Given the description of an element on the screen output the (x, y) to click on. 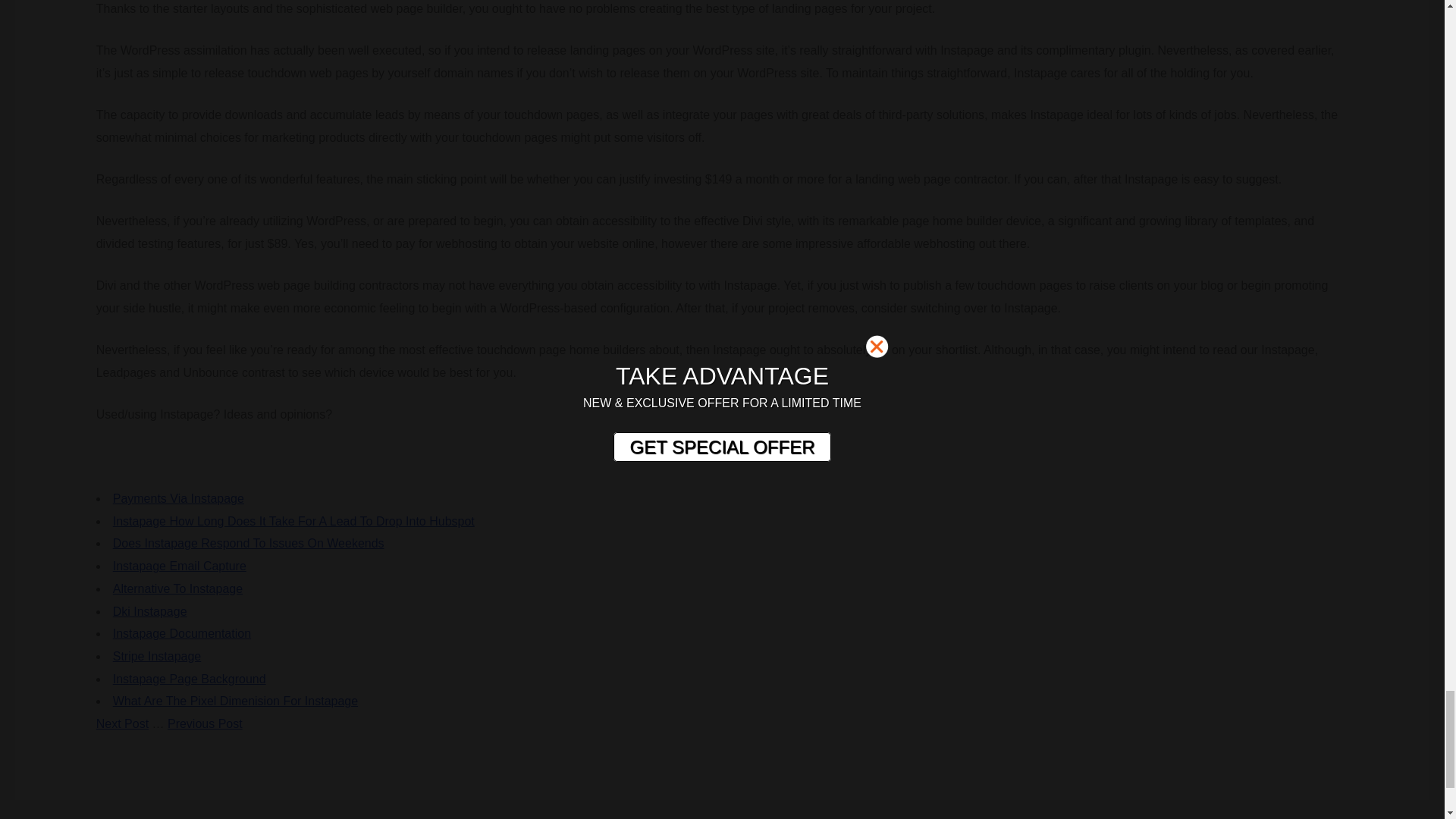
Dki Instapage (150, 611)
Instapage Page Background (189, 678)
Does Instapage Respond To Issues On Weekends (248, 543)
Payments Via Instapage (178, 498)
Payments Via Instapage (178, 498)
Stripe Instapage (157, 656)
Next Post (122, 723)
Previous Post (205, 723)
Instapage Documentation (181, 633)
What Are The Pixel Dimenision For Instapage (235, 700)
What Are The Pixel Dimenision For Instapage (235, 700)
Instapage Page Background (189, 678)
Dki Instapage (150, 611)
Does Instapage Respond To Issues On Weekends (248, 543)
